Given the description of an element on the screen output the (x, y) to click on. 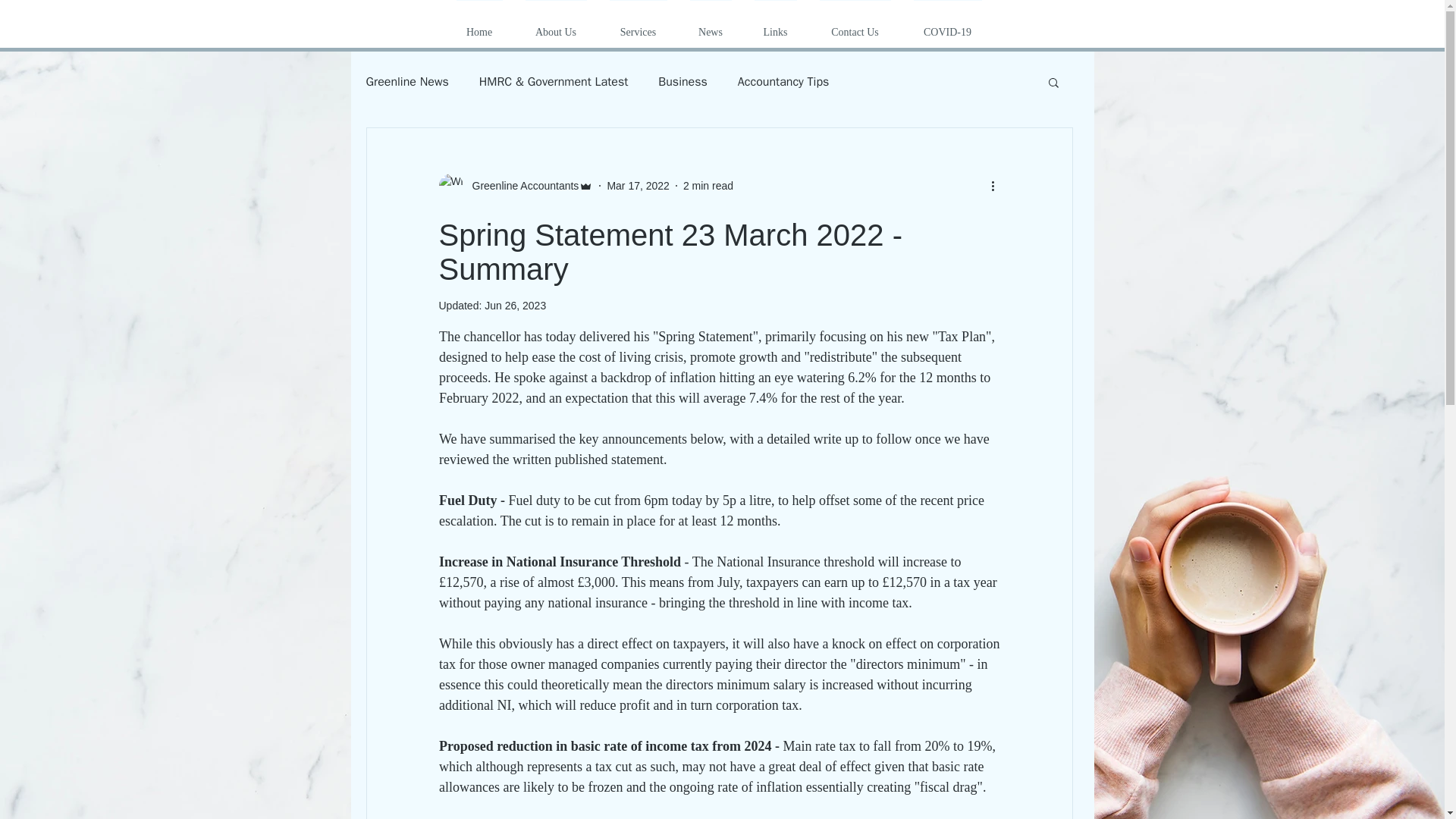
Jun 26, 2023 (515, 305)
Greenline Accountants (520, 185)
News (710, 25)
Home (478, 25)
Links (775, 25)
2 min read (707, 184)
Greenline News (406, 82)
COVID-19 (947, 25)
Services (637, 25)
Mar 17, 2022 (638, 184)
